Given the description of an element on the screen output the (x, y) to click on. 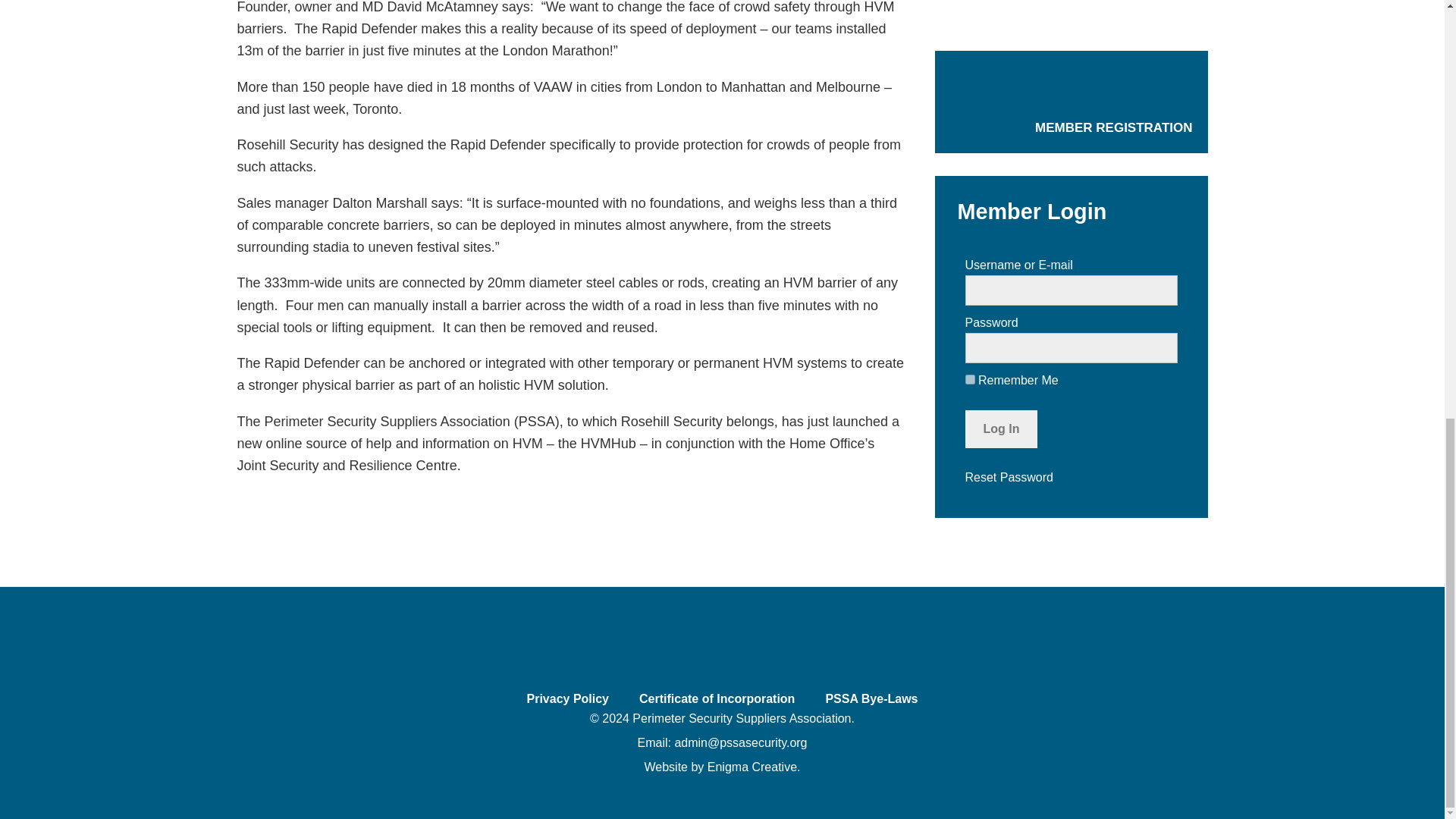
forever (968, 379)
Log In (999, 428)
